Given the description of an element on the screen output the (x, y) to click on. 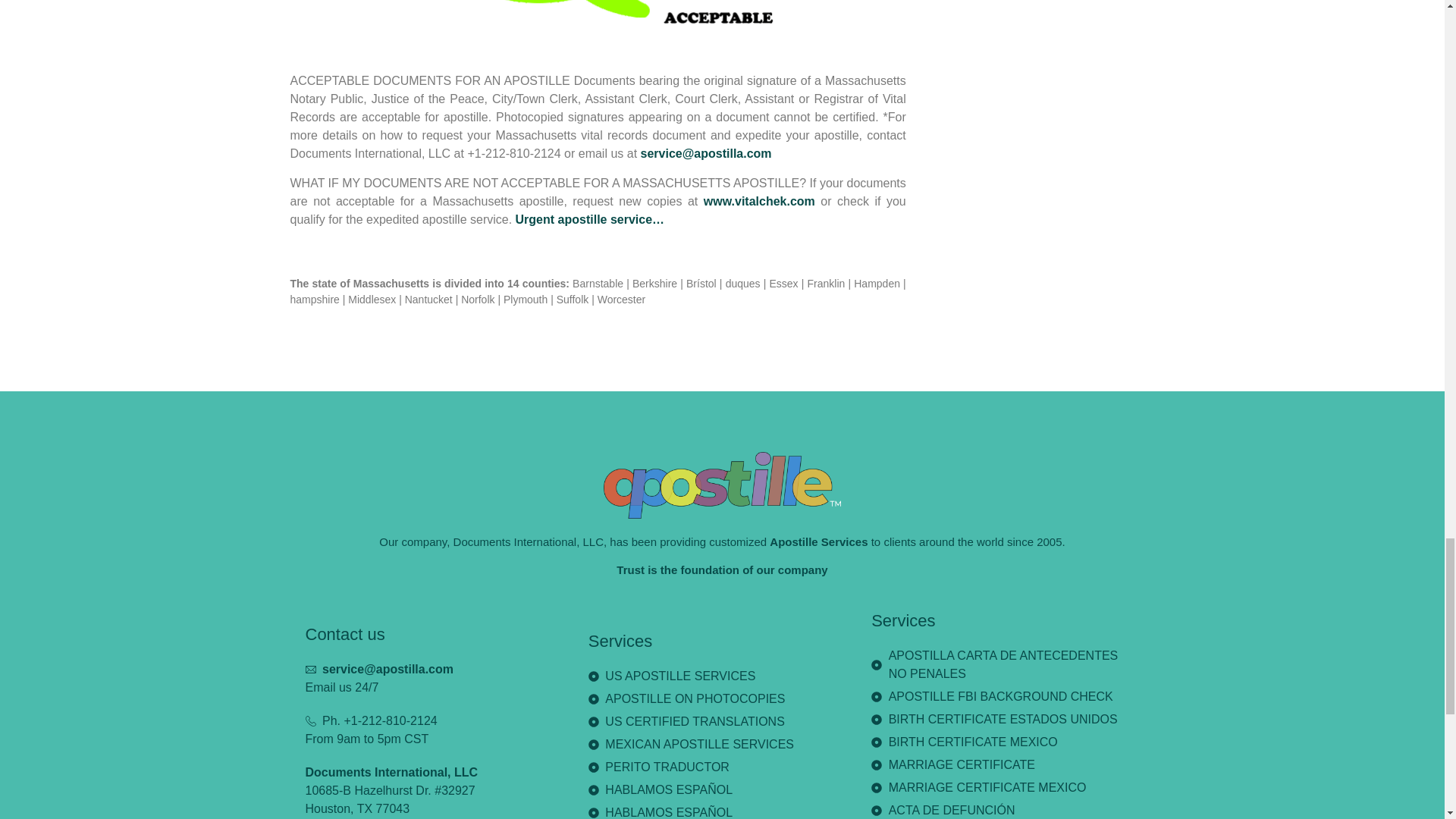
www.vitalchek.com (759, 201)
